Given the description of an element on the screen output the (x, y) to click on. 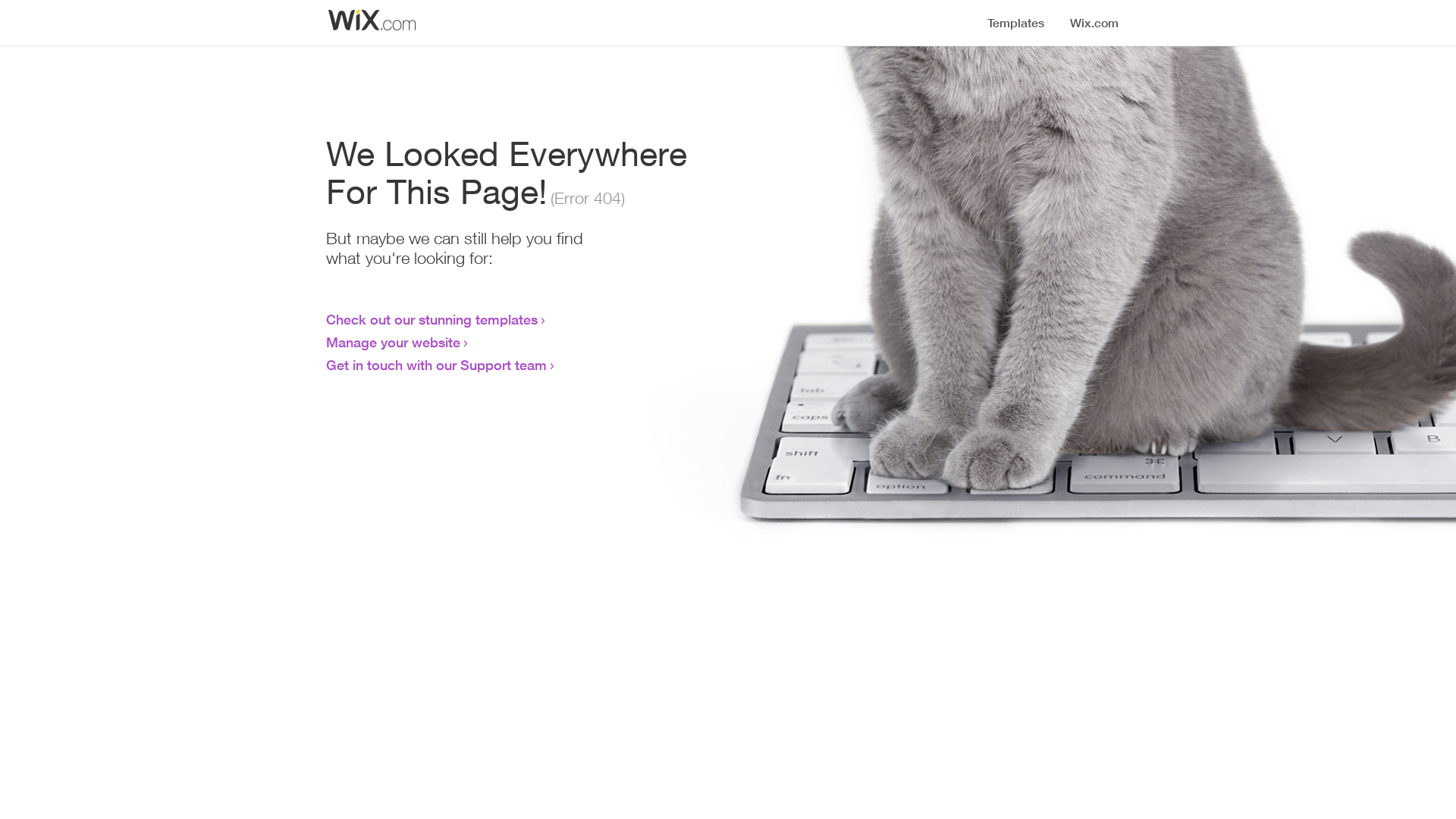
Manage your website Element type: text (393, 341)
Check out our stunning templates Element type: text (431, 318)
Get in touch with our Support team Element type: text (436, 364)
